Given the description of an element on the screen output the (x, y) to click on. 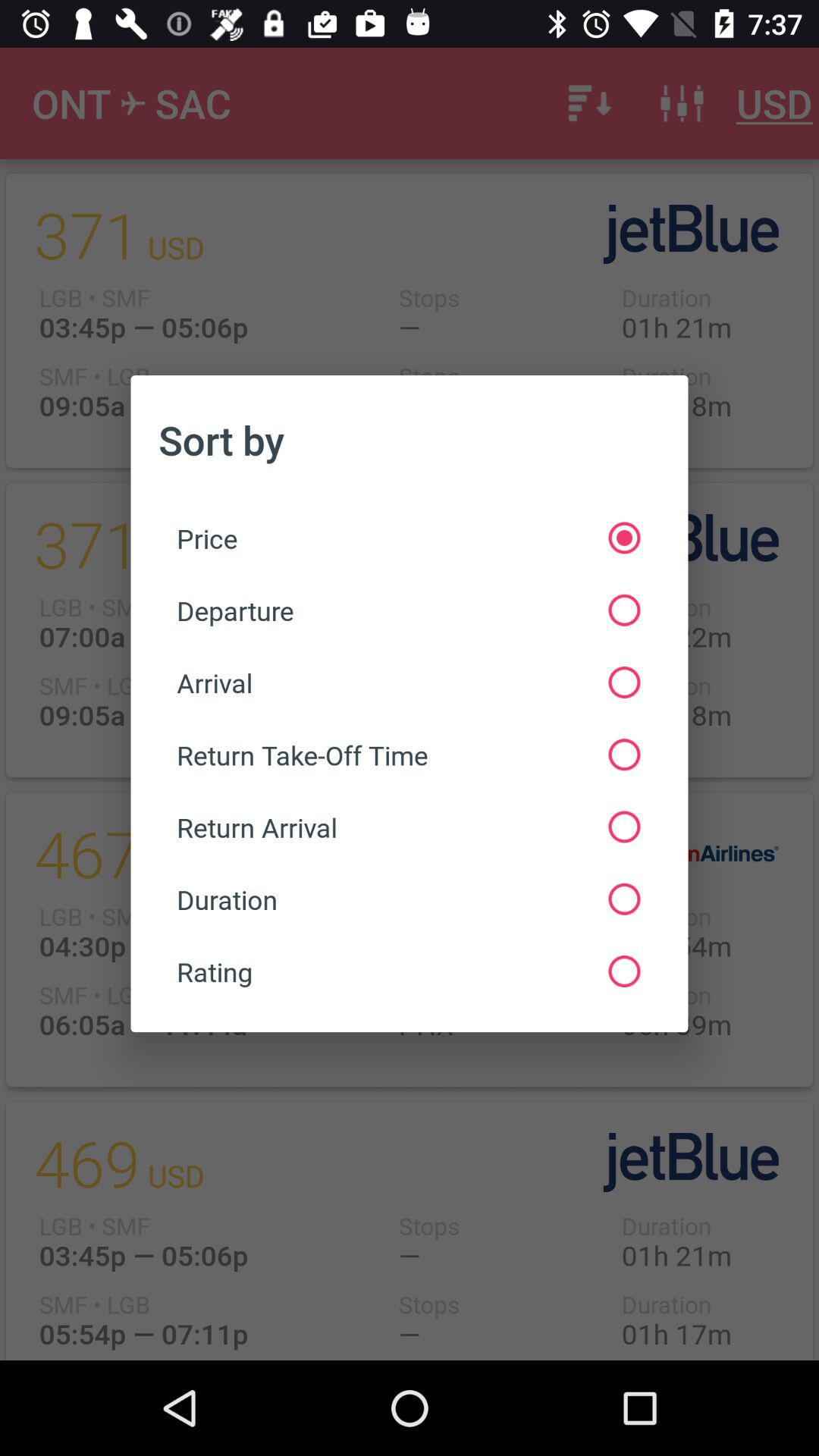
scroll to return take off icon (408, 754)
